Given the description of an element on the screen output the (x, y) to click on. 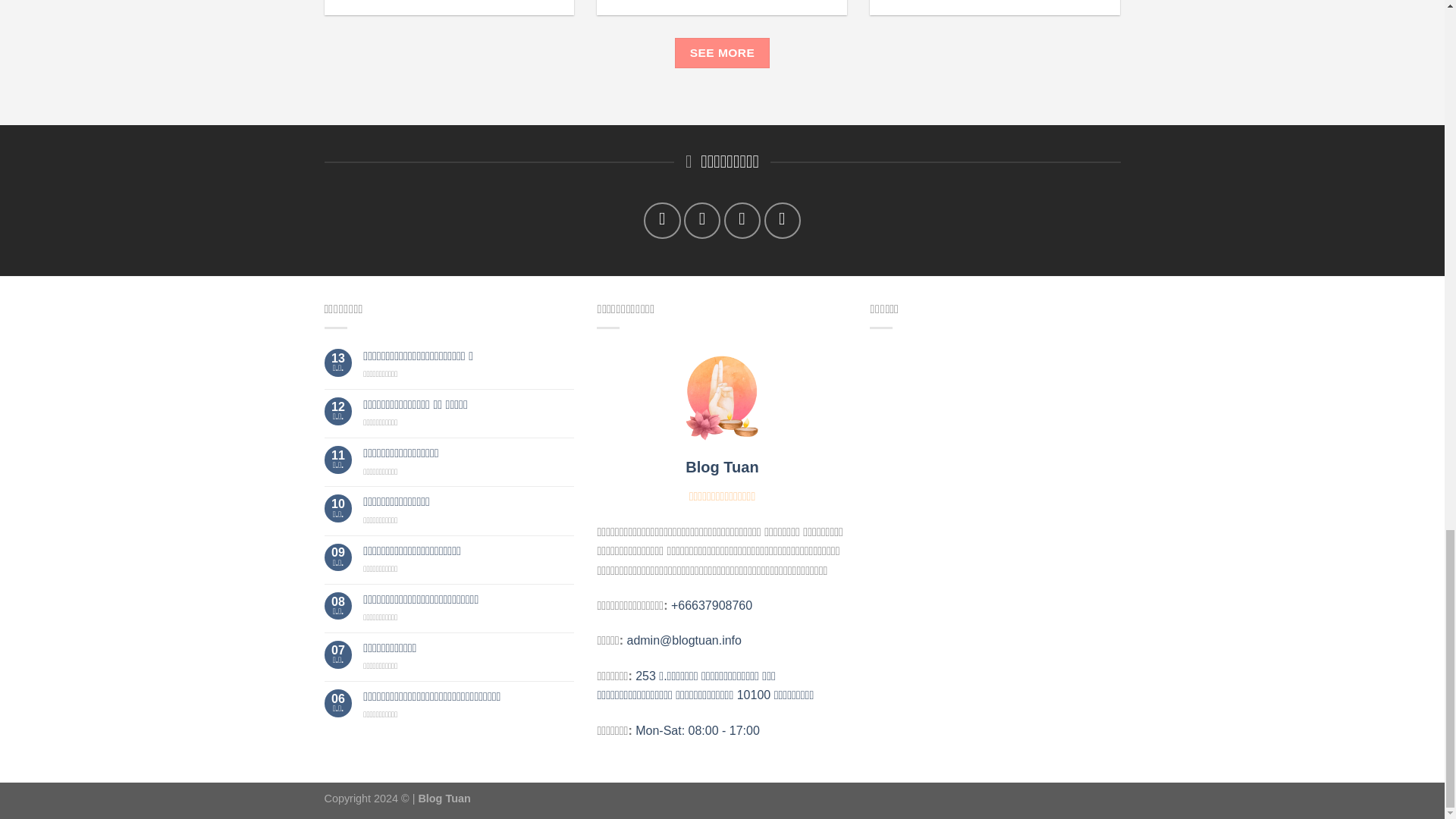
Follow on Pinterest (741, 220)
Follow on YouTube (782, 220)
Follow on Twitter (702, 220)
Follow on Facebook (661, 220)
